Given the description of an element on the screen output the (x, y) to click on. 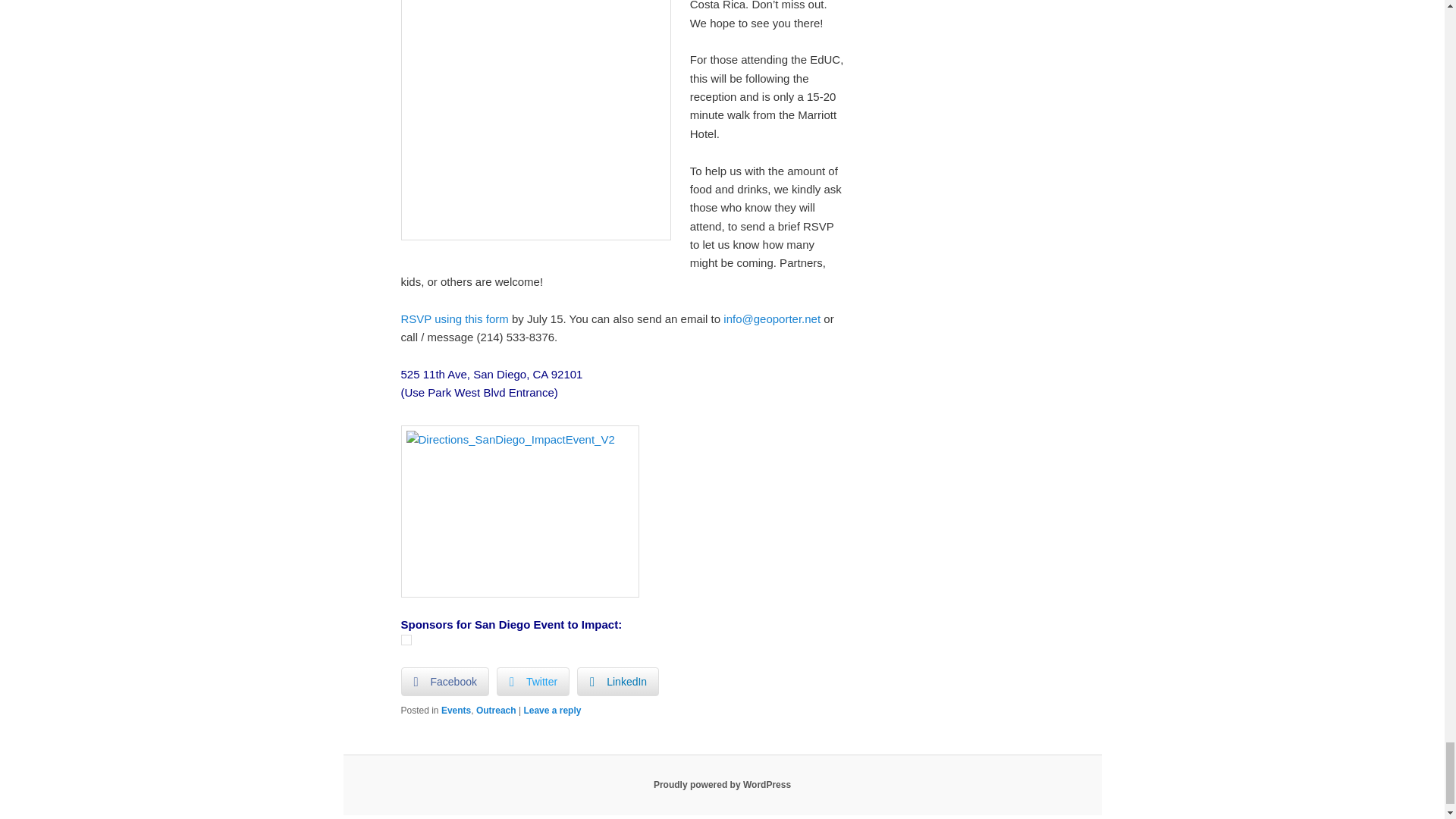
Semantic Personal Publishing Platform (721, 784)
